Given the description of an element on the screen output the (x, y) to click on. 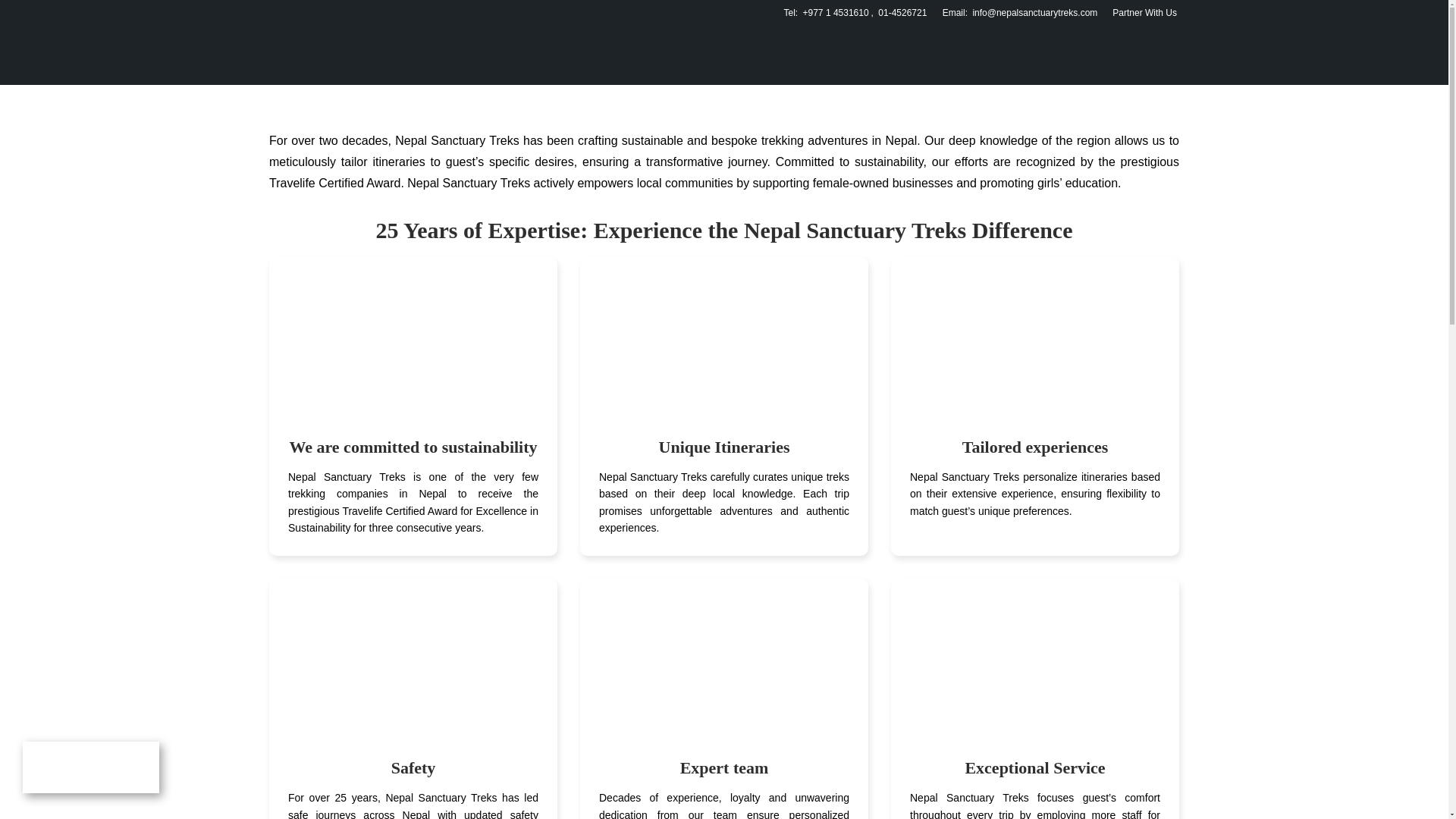
01-4526721 (902, 12)
Partner With Us (1144, 12)
